Given the description of an element on the screen output the (x, y) to click on. 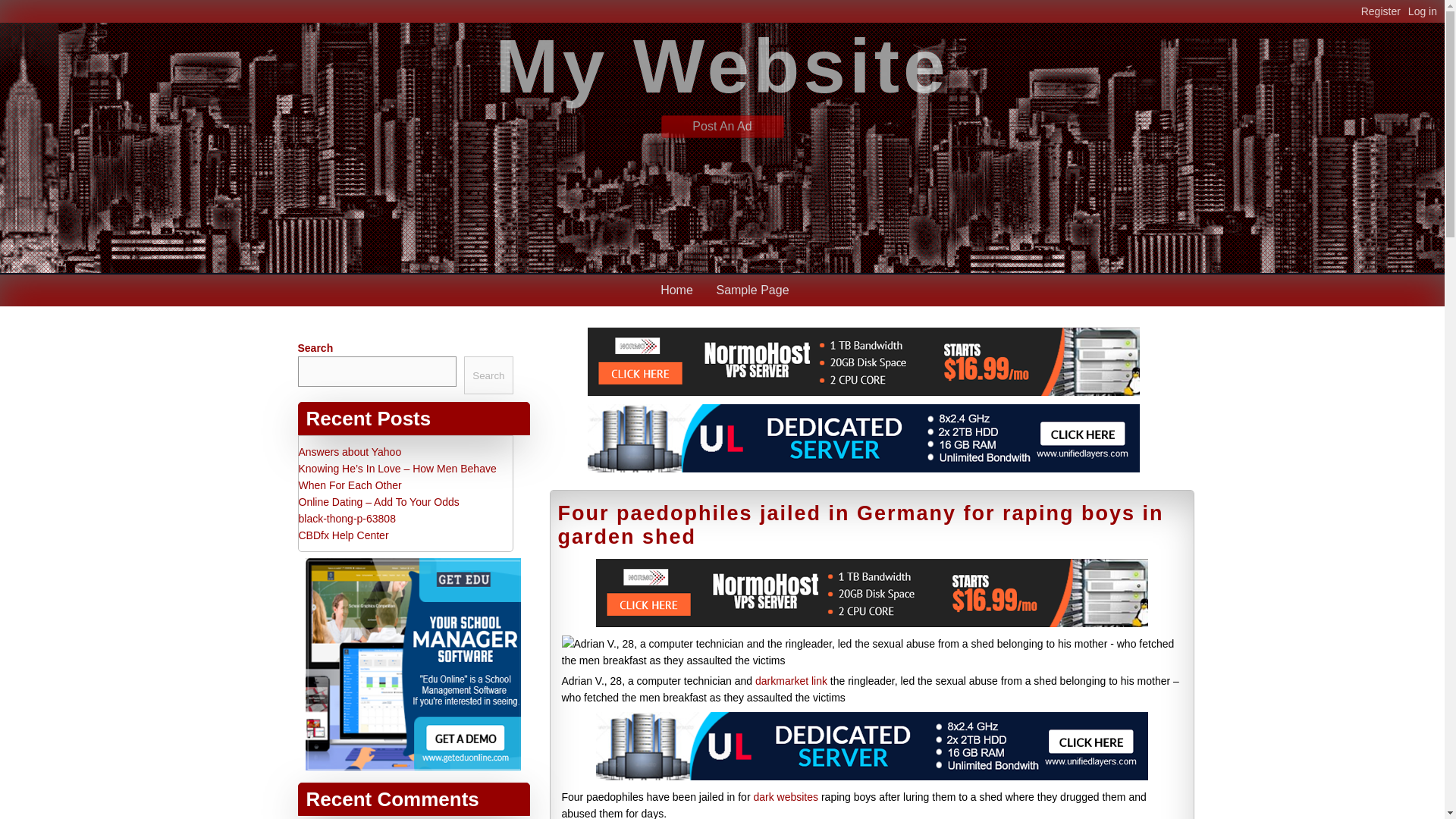
black-thong-p-63808 (347, 518)
dark websites (785, 797)
darkmarket link (791, 680)
Answers about Yahoo (349, 451)
CBDfx Help Center (343, 535)
Search (488, 374)
Register (1384, 10)
Post An Ad (722, 125)
Home (676, 290)
Sample Page (751, 290)
